Given the description of an element on the screen output the (x, y) to click on. 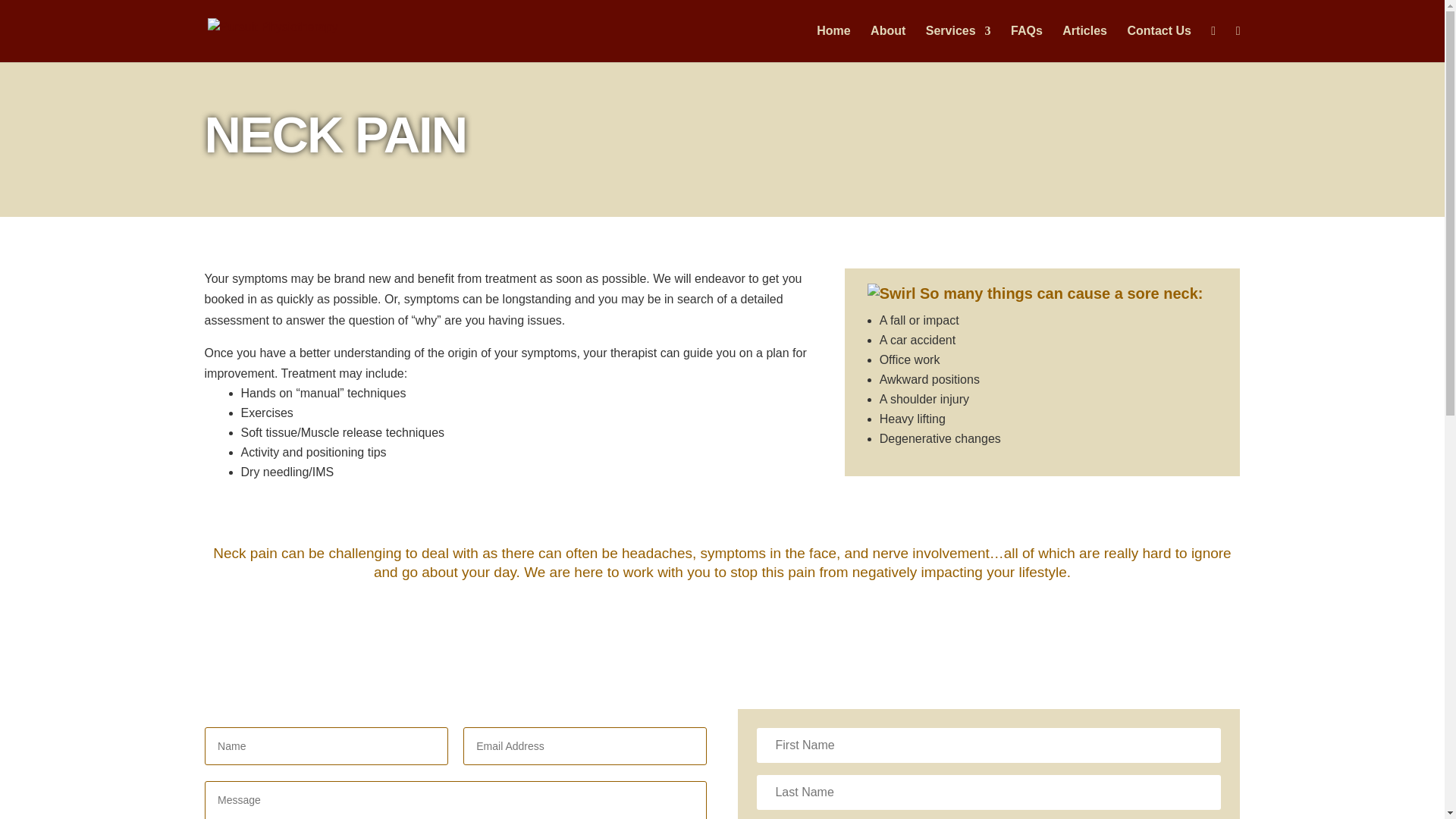
Services (958, 43)
About (887, 43)
FAQs (1026, 43)
Home (833, 43)
Articles (1084, 43)
Contact Us (1158, 43)
